Given the description of an element on the screen output the (x, y) to click on. 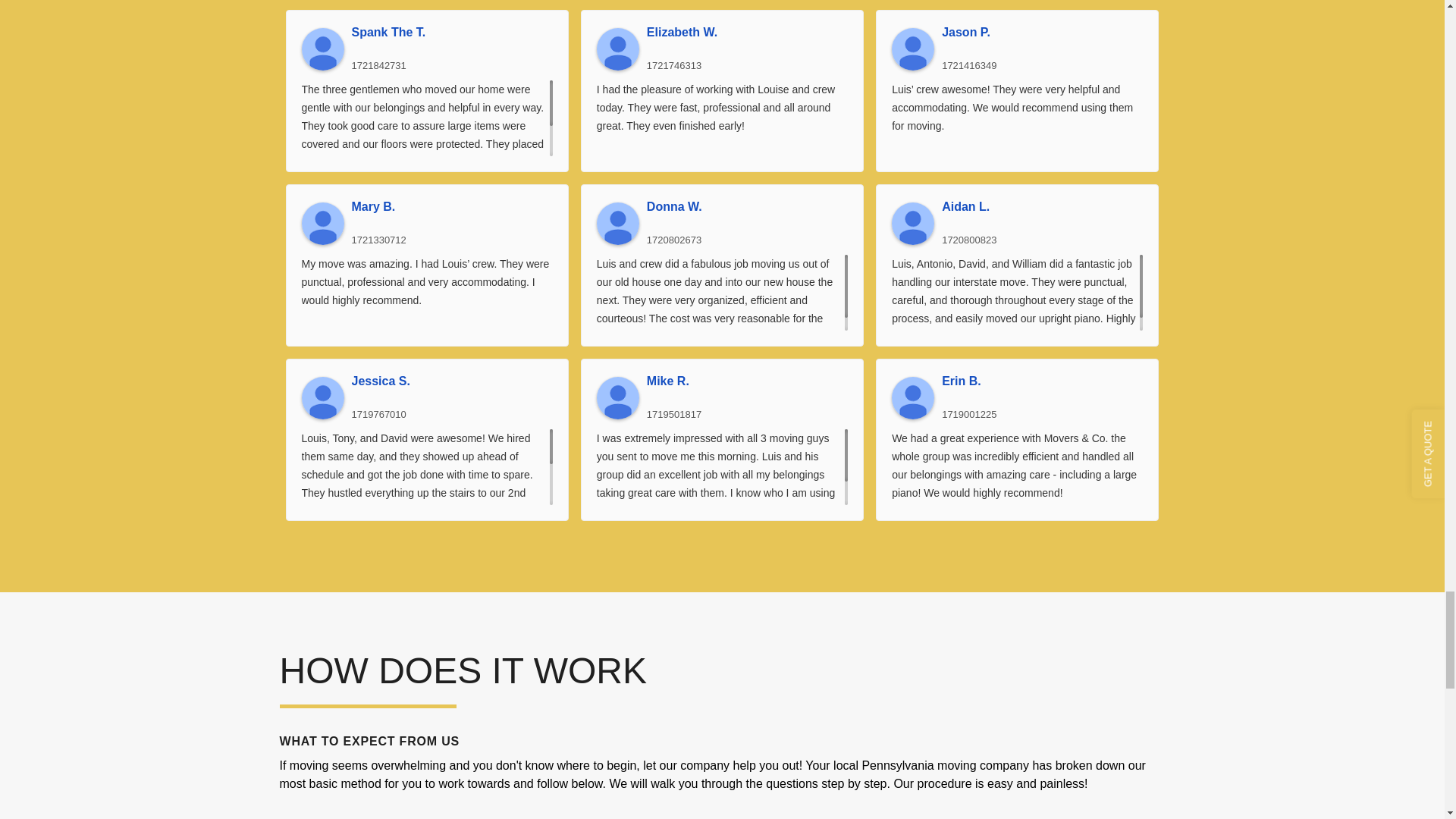
Spank The T. (322, 48)
Spank The T. (452, 32)
